Given the description of an element on the screen output the (x, y) to click on. 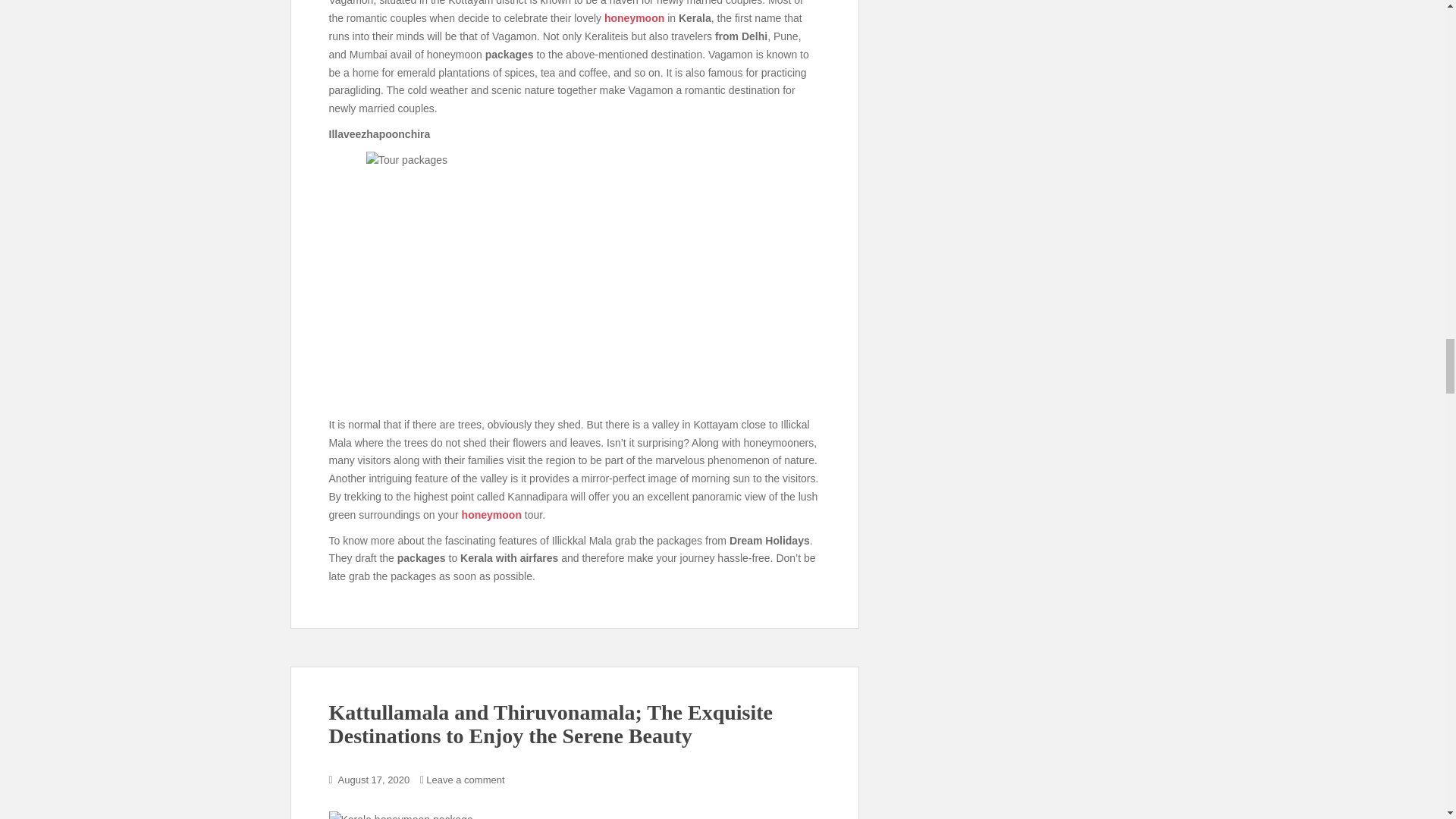
honeymoon (633, 18)
Kerala Tour (575, 815)
August 17, 2020 (373, 779)
honeymoon (491, 514)
Leave a comment (464, 779)
Illaveezhapoonchira (574, 279)
